Given the description of an element on the screen output the (x, y) to click on. 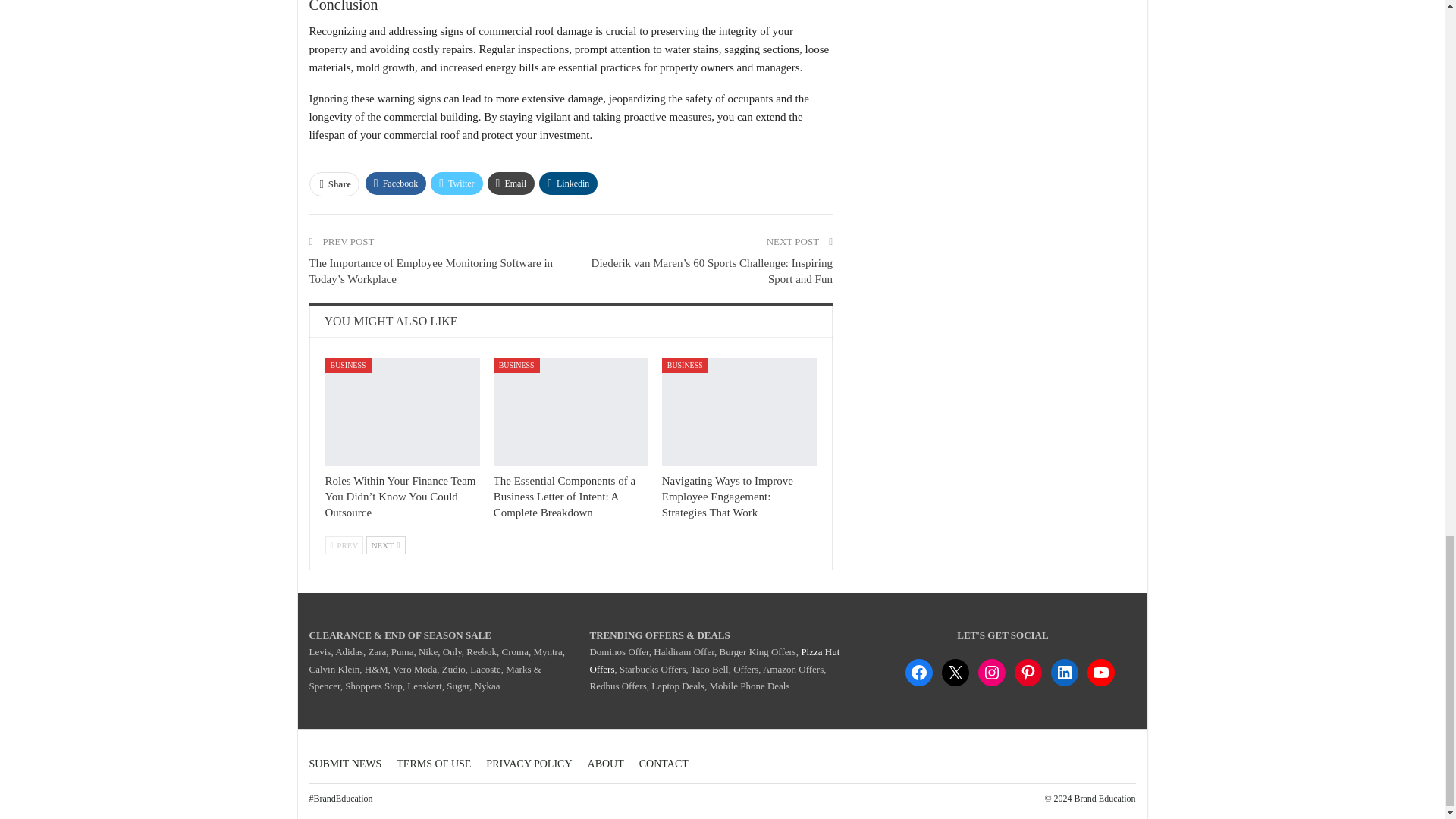
YOU MIGHT ALSO LIKE (391, 320)
BUSINESS (684, 365)
BUSINESS (347, 365)
Previous (343, 545)
BUSINESS (516, 365)
NEXT (386, 545)
Facebook (395, 182)
PREV (343, 545)
